Given the description of an element on the screen output the (x, y) to click on. 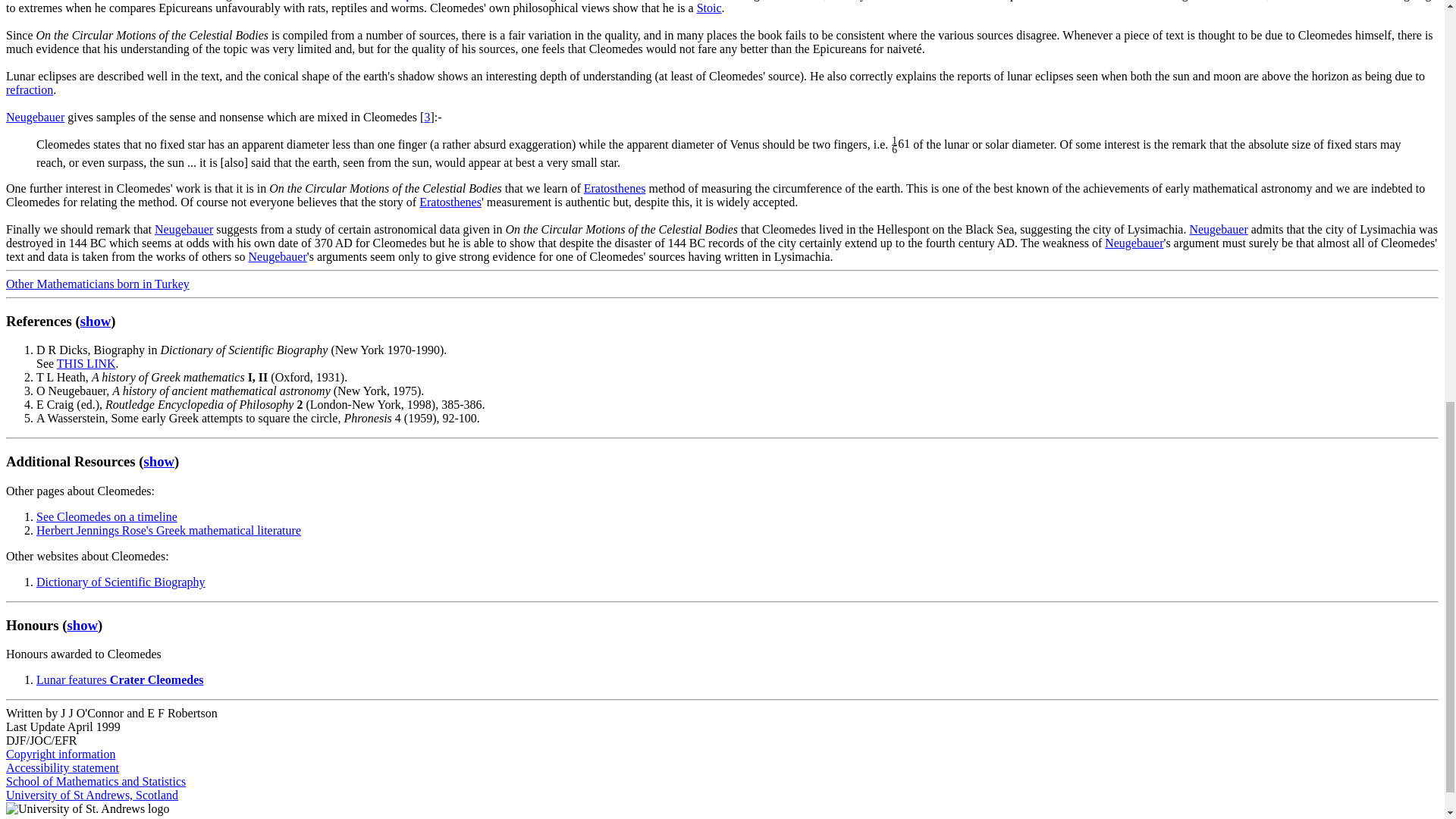
Neugebauer (34, 116)
refraction (28, 89)
Epicureans (424, 0)
Stoic (709, 7)
3 (426, 116)
